Given the description of an element on the screen output the (x, y) to click on. 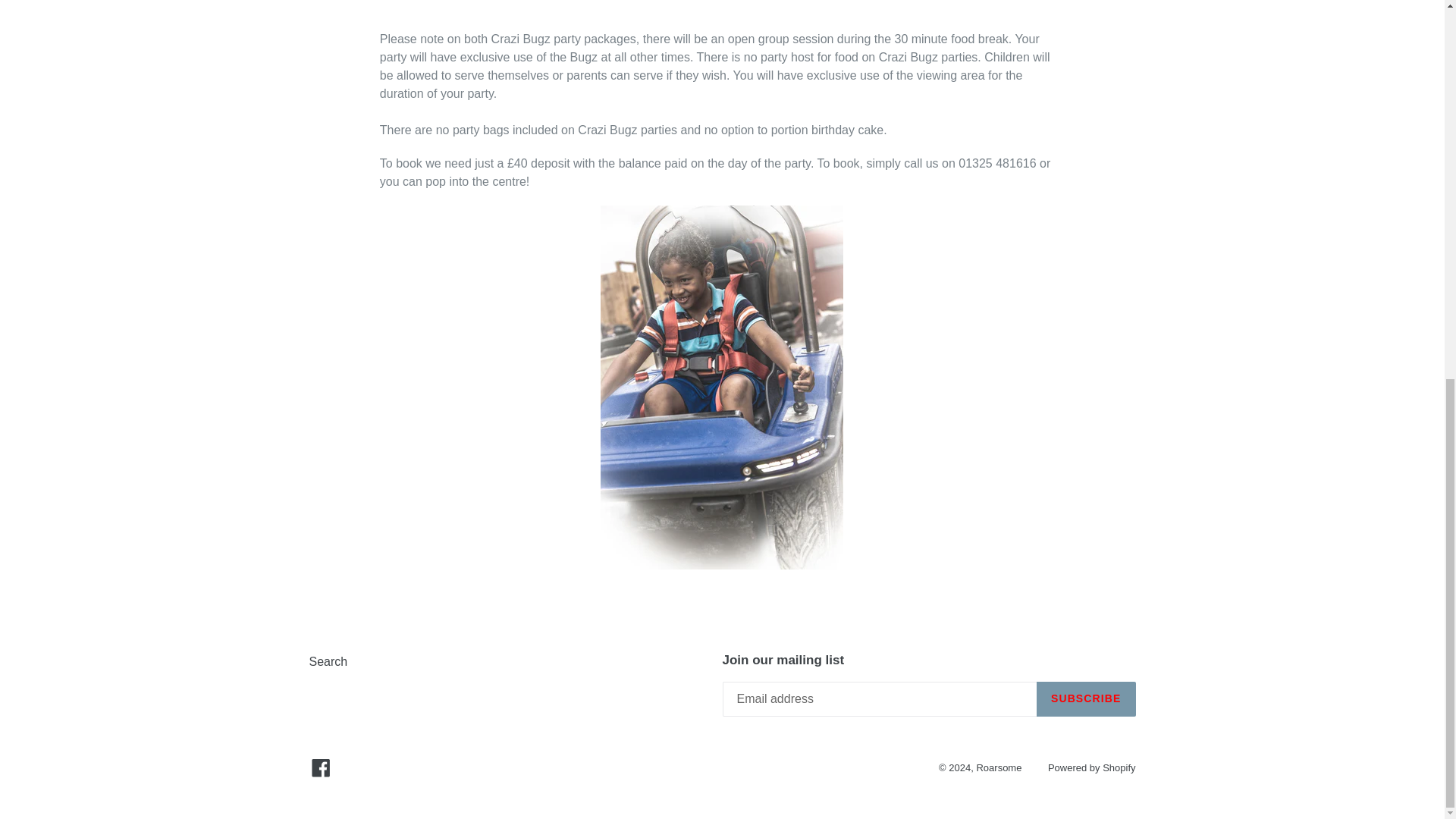
Roarsome (998, 767)
Roarsome on Facebook (320, 767)
Powered by Shopify (1091, 767)
Search (327, 661)
SUBSCRIBE (1085, 698)
Facebook (320, 767)
